Given the description of an element on the screen output the (x, y) to click on. 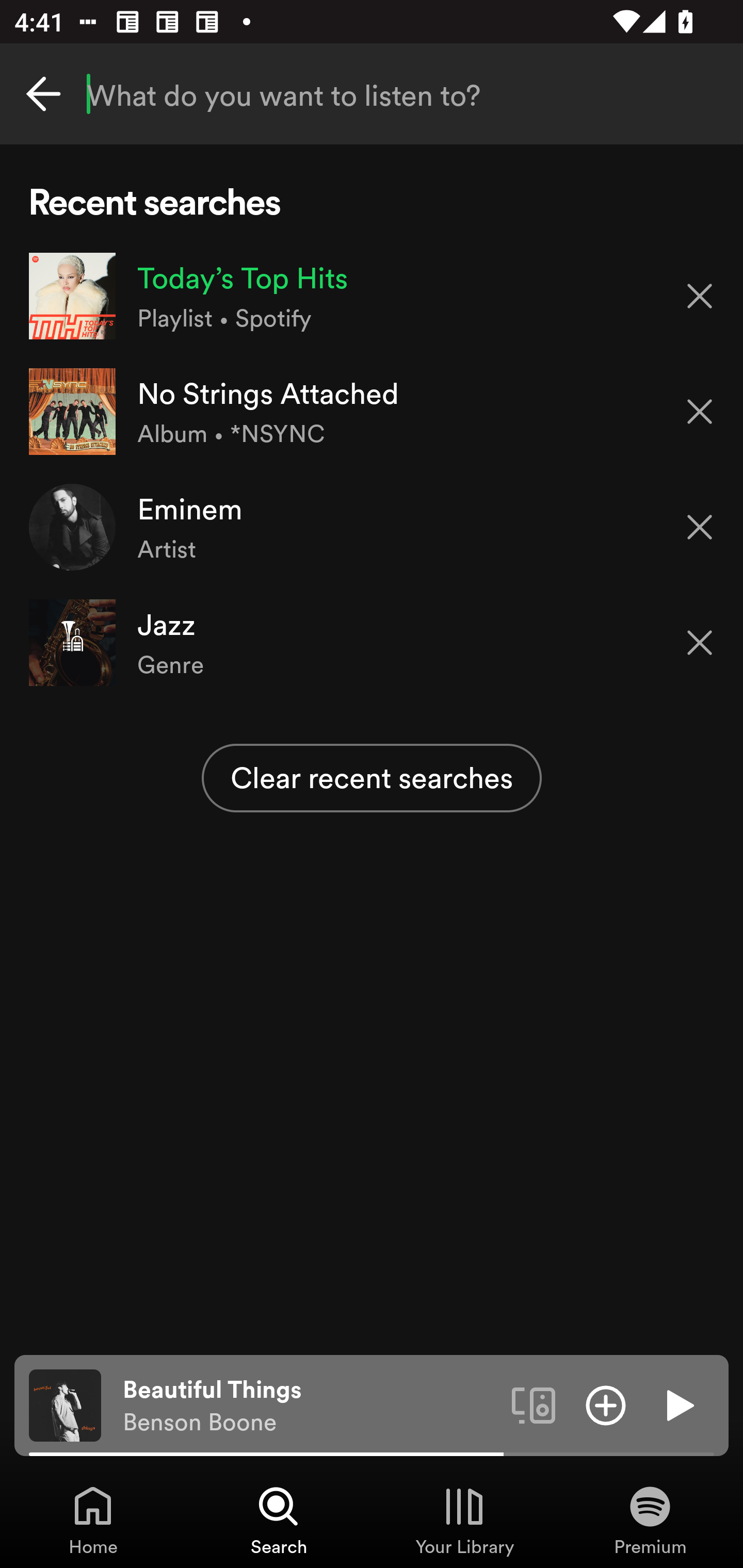
What do you want to listen to? (371, 93)
Cancel (43, 93)
Today’s Top Hits Playlist • Spotify Remove (371, 296)
Remove (699, 295)
No Strings Attached Album • *NSYNC Remove (371, 411)
Remove (699, 411)
Eminem Artist Remove (371, 526)
Remove (699, 527)
Jazz Genre Remove (371, 642)
Remove (699, 642)
Clear recent searches (371, 777)
Beautiful Things Benson Boone (309, 1405)
The cover art of the currently playing track (64, 1404)
Connect to a device. Opens the devices menu (533, 1404)
Add item (605, 1404)
Play (677, 1404)
Home, Tab 1 of 4 Home Home (92, 1519)
Search, Tab 2 of 4 Search Search (278, 1519)
Your Library, Tab 3 of 4 Your Library Your Library (464, 1519)
Premium, Tab 4 of 4 Premium Premium (650, 1519)
